Given the description of an element on the screen output the (x, y) to click on. 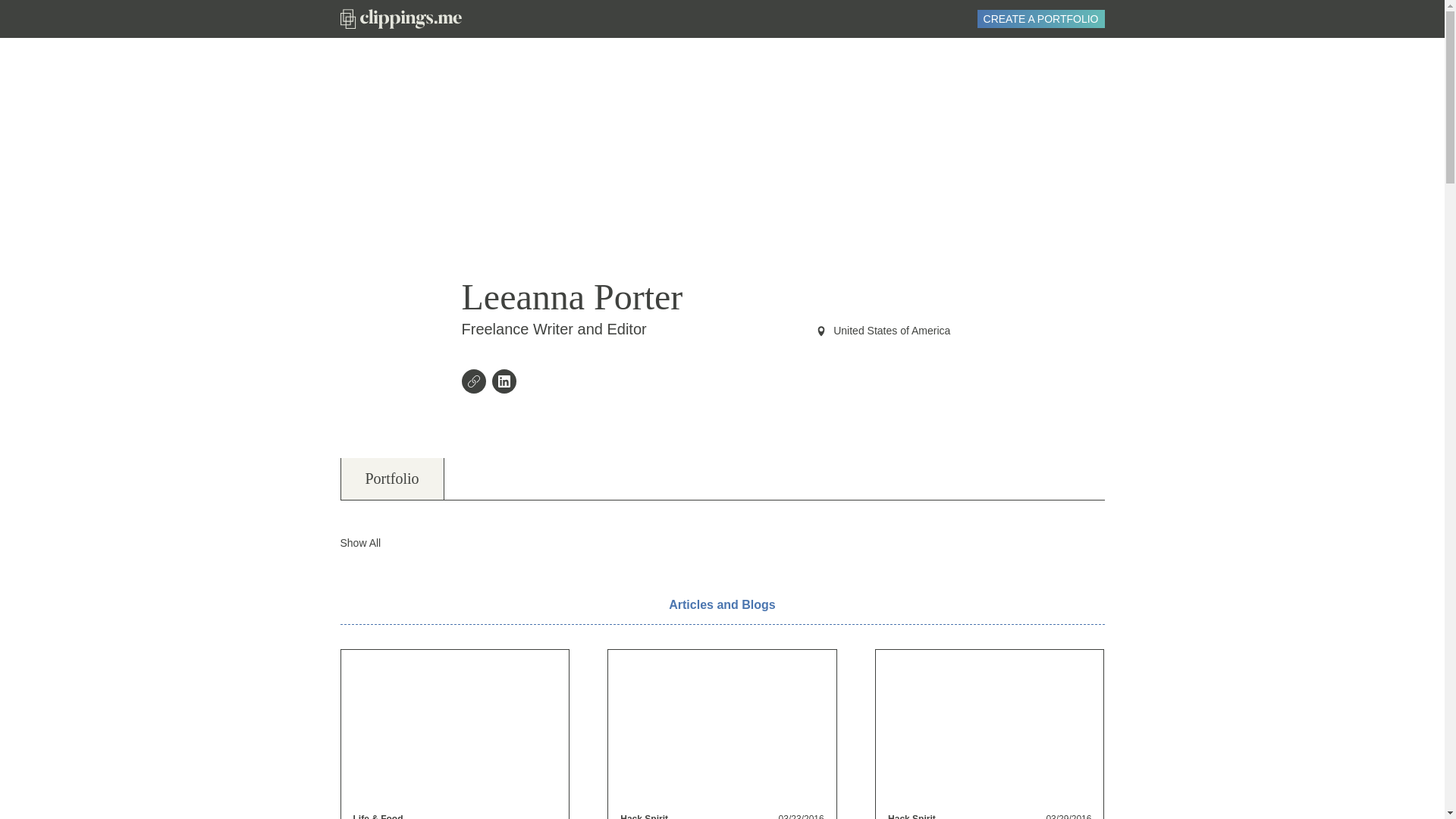
CREATE A PORTFOLIO (1040, 18)
My Blog (476, 383)
Home (400, 18)
LinkedIn Link (506, 383)
Create a Portfolio (1040, 18)
